Given the description of an element on the screen output the (x, y) to click on. 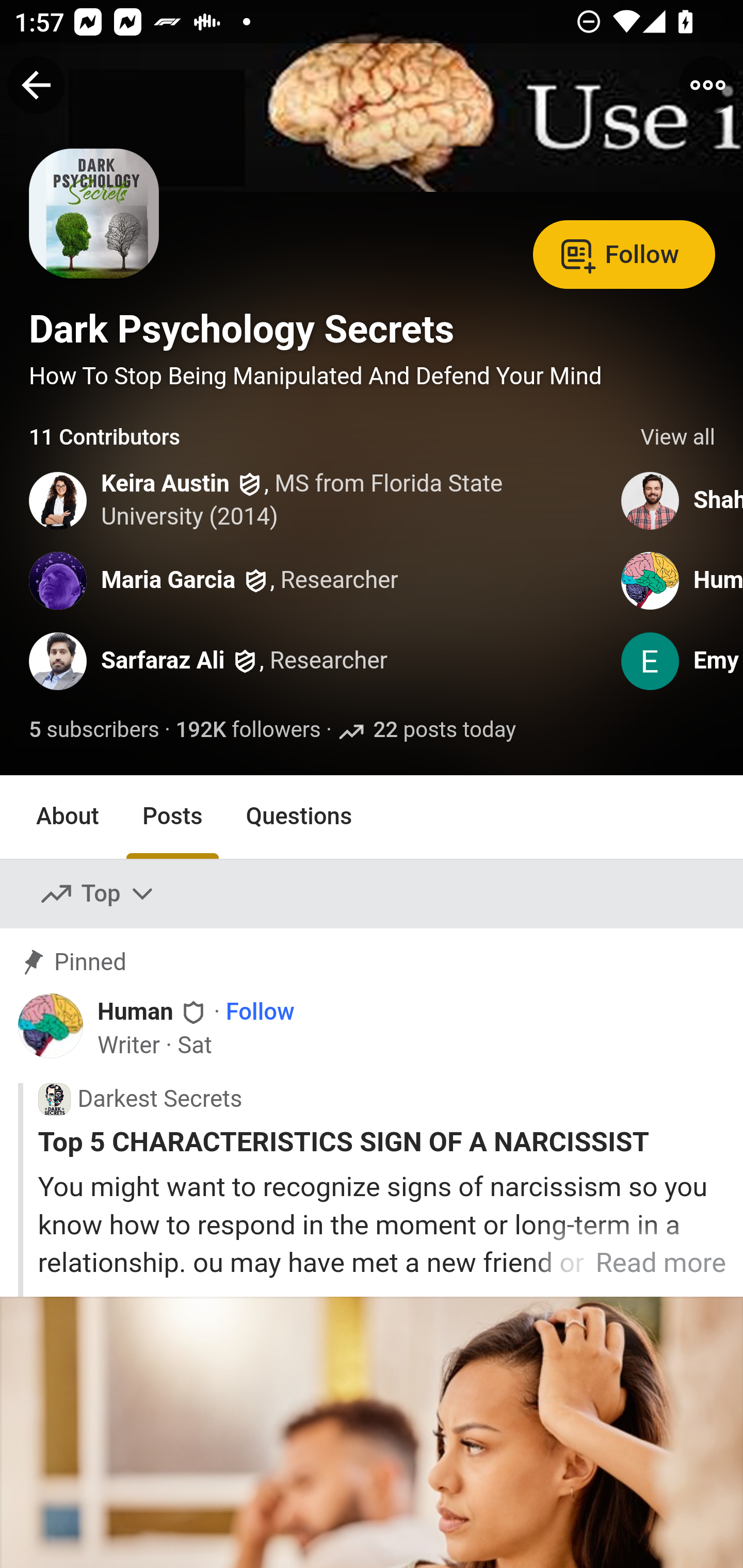
Follow (623, 252)
Dark Psychology Secrets (241, 329)
View all (677, 437)
Keira Austin (166, 484)
Profile photo for Keira Austin (58, 499)
Profile photo for Shahzad Sultan (650, 499)
Profile photo for Maria Garcia (58, 579)
Profile photo for Human (650, 579)
Maria Garcia (168, 579)
Profile photo for Sarfaraz Ali (58, 661)
Profile photo for Emy Watson (650, 661)
Sarfaraz Ali (163, 660)
About (68, 816)
Posts (171, 816)
Questions (299, 816)
Top (97, 894)
Profile photo for Human (50, 1025)
Human Human   (153, 1010)
Follow (259, 1011)
Sat (194, 1045)
Icon for Darkest Secrets (54, 1099)
Top 5 CHARACTERISTICS SIGN OF A NARCISSIST (381, 1141)
